Given the description of an element on the screen output the (x, y) to click on. 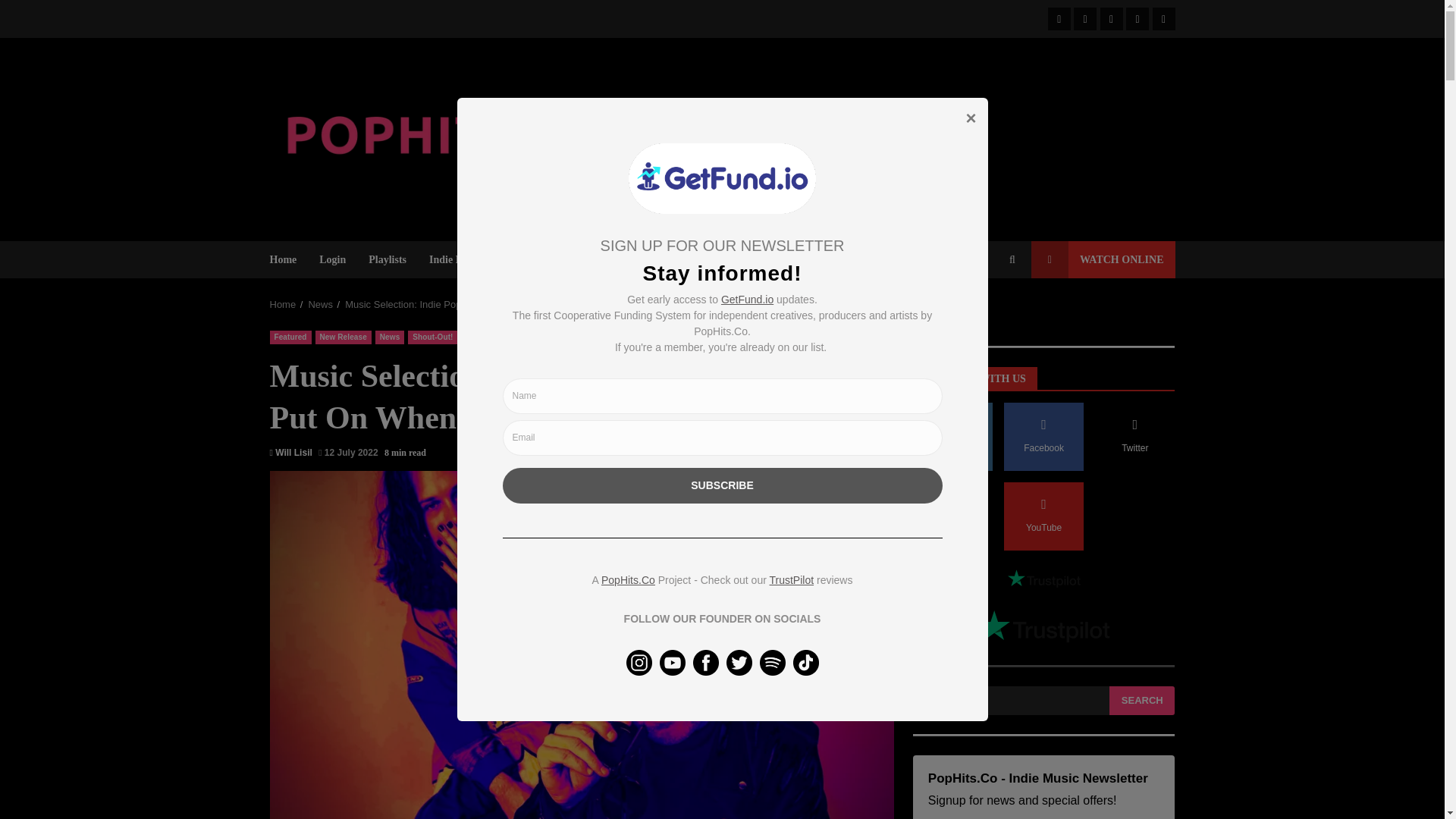
WATCH ONLINE (1102, 259)
News (320, 304)
Login (331, 259)
Home (283, 304)
Services (530, 259)
Featured (290, 336)
Search (1141, 700)
Search (1141, 700)
Search (984, 310)
Indie Music (456, 259)
Home (288, 259)
Search (1011, 258)
New Release (343, 336)
About Us (598, 259)
